Given the description of an element on the screen output the (x, y) to click on. 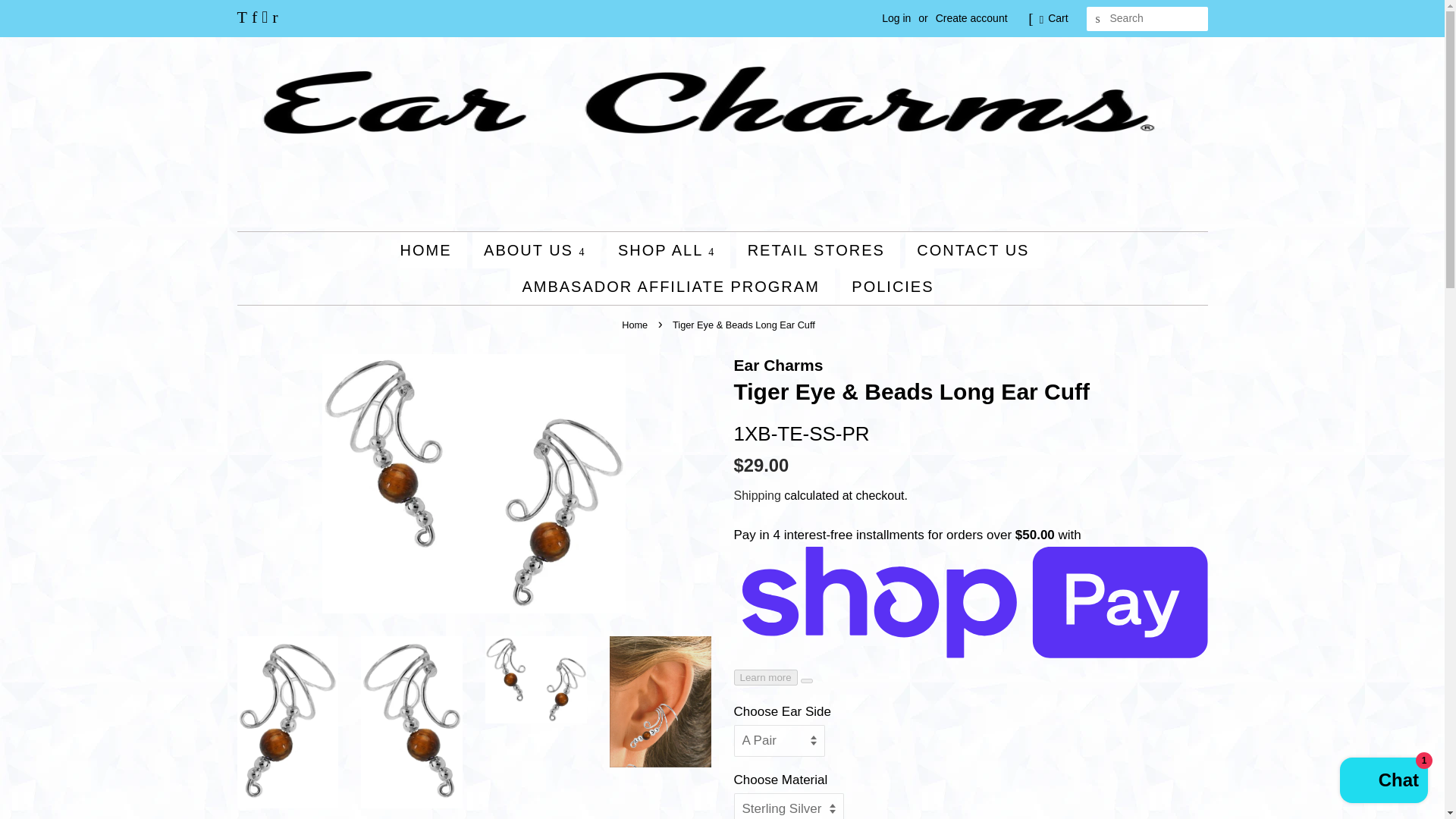
Log in (896, 18)
SHOP ALL (668, 249)
ABOUT US (535, 249)
Back to the frontpage (635, 324)
CONTACT US (974, 249)
Shopify online store chat (1383, 781)
Home (635, 324)
Cart (1057, 18)
POLICIES (886, 286)
RETAIL STORES (817, 249)
AMBASADOR AFFILIATE PROGRAM (672, 286)
HOME (433, 249)
Create account (971, 18)
SEARCH (1097, 18)
